Given the description of an element on the screen output the (x, y) to click on. 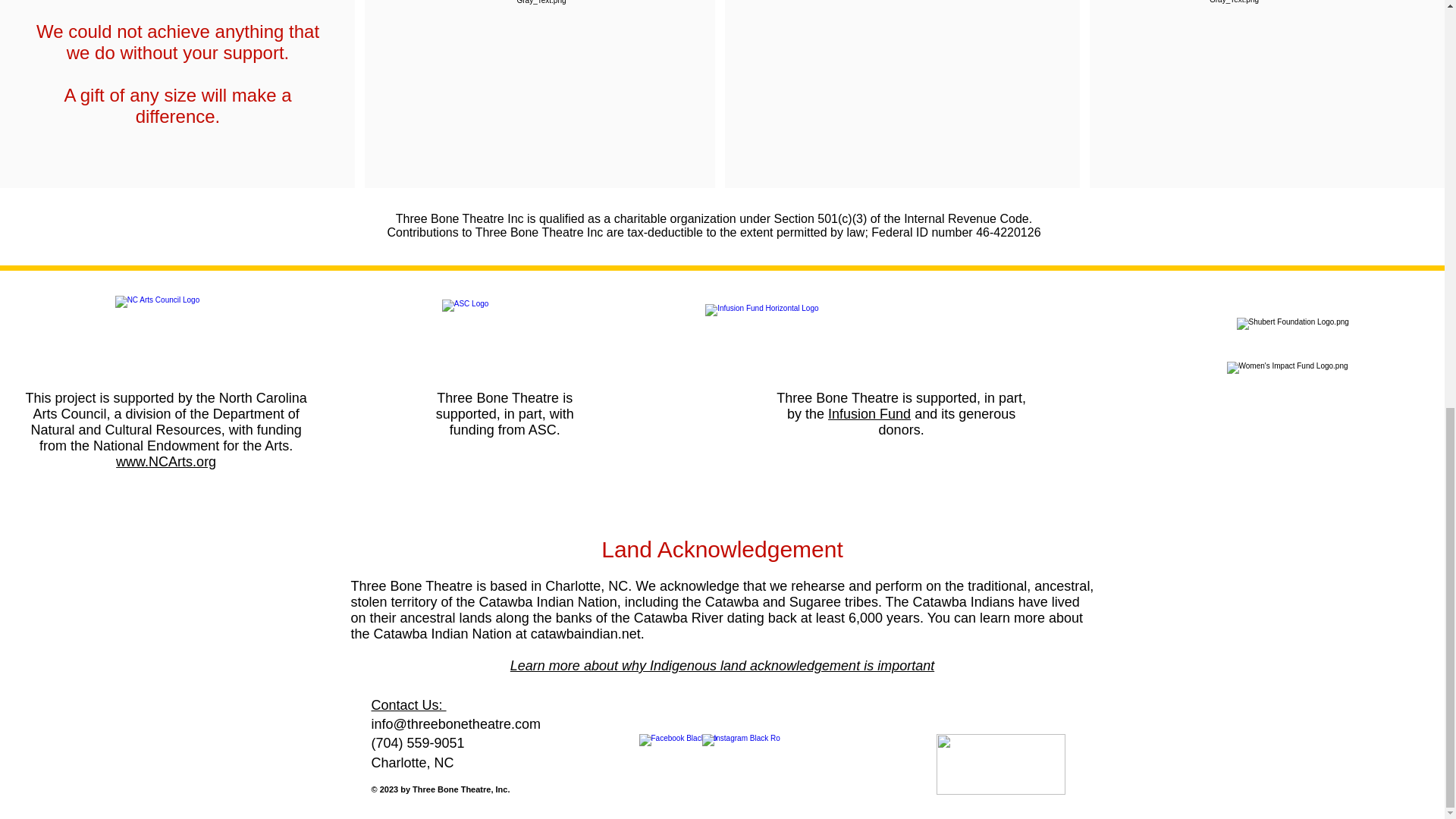
Infusion Fund (869, 413)
www.NCArts.org (165, 461)
